Given the description of an element on the screen output the (x, y) to click on. 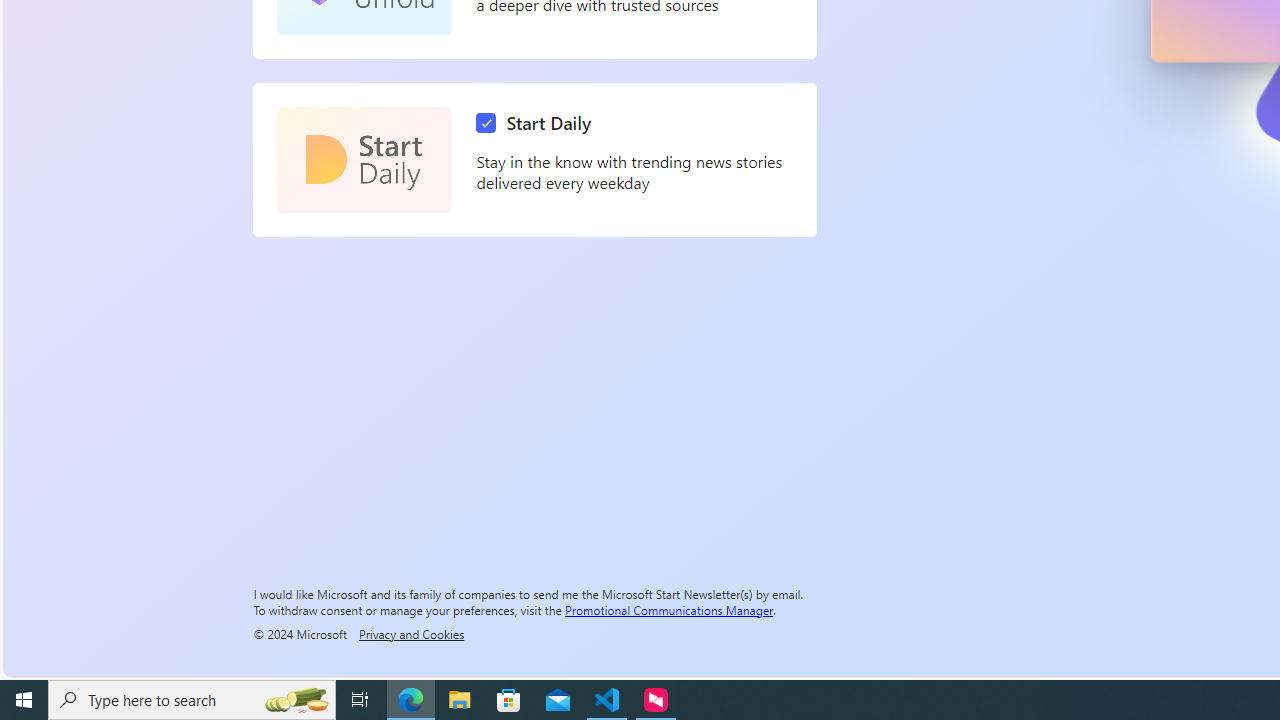
Start Daily (538, 123)
Privacy and Cookies (411, 633)
Promotional Communications Manager (669, 609)
Start Daily (364, 160)
